Given the description of an element on the screen output the (x, y) to click on. 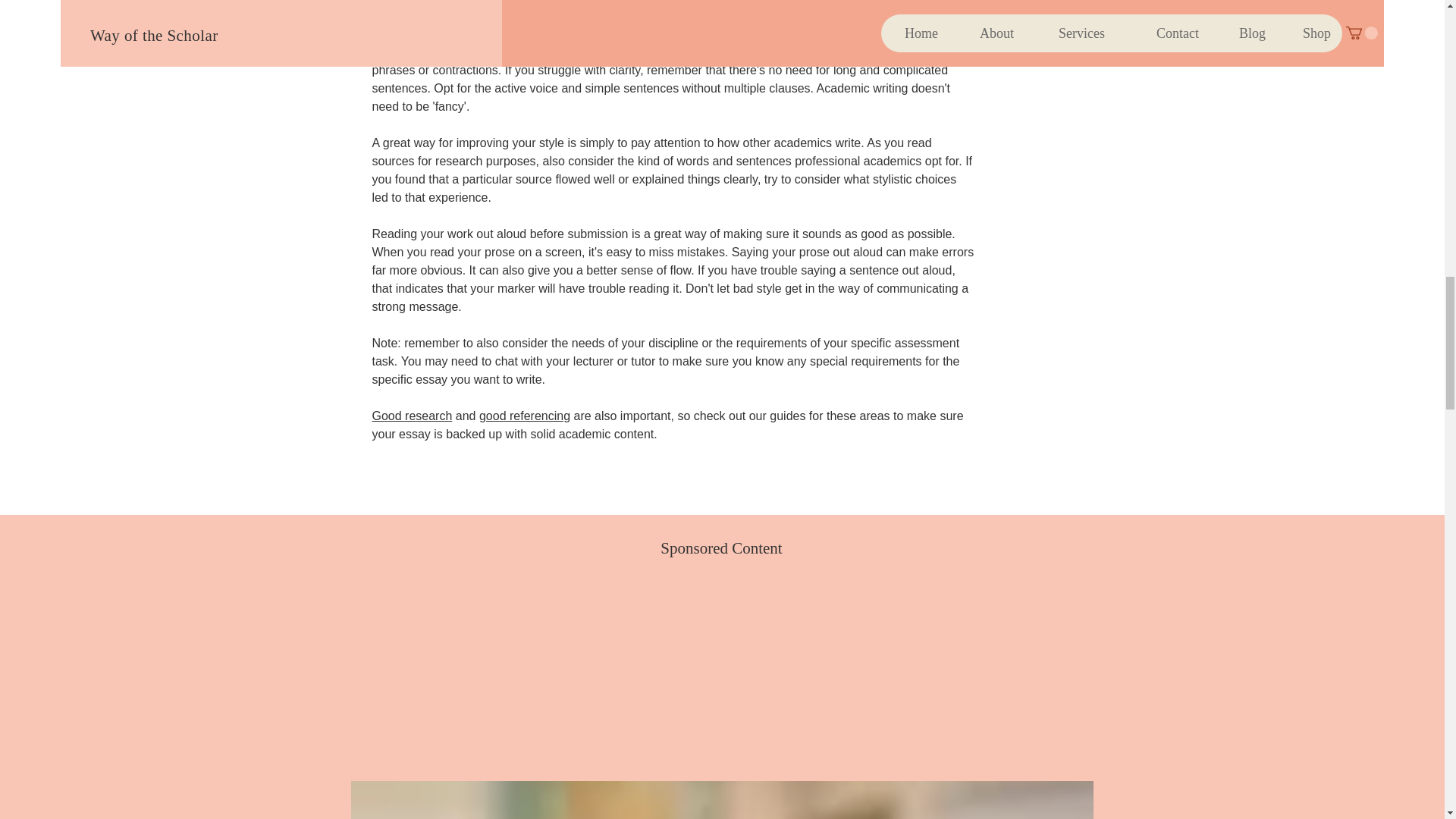
good referencing (524, 415)
Good research (411, 415)
